Given the description of an element on the screen output the (x, y) to click on. 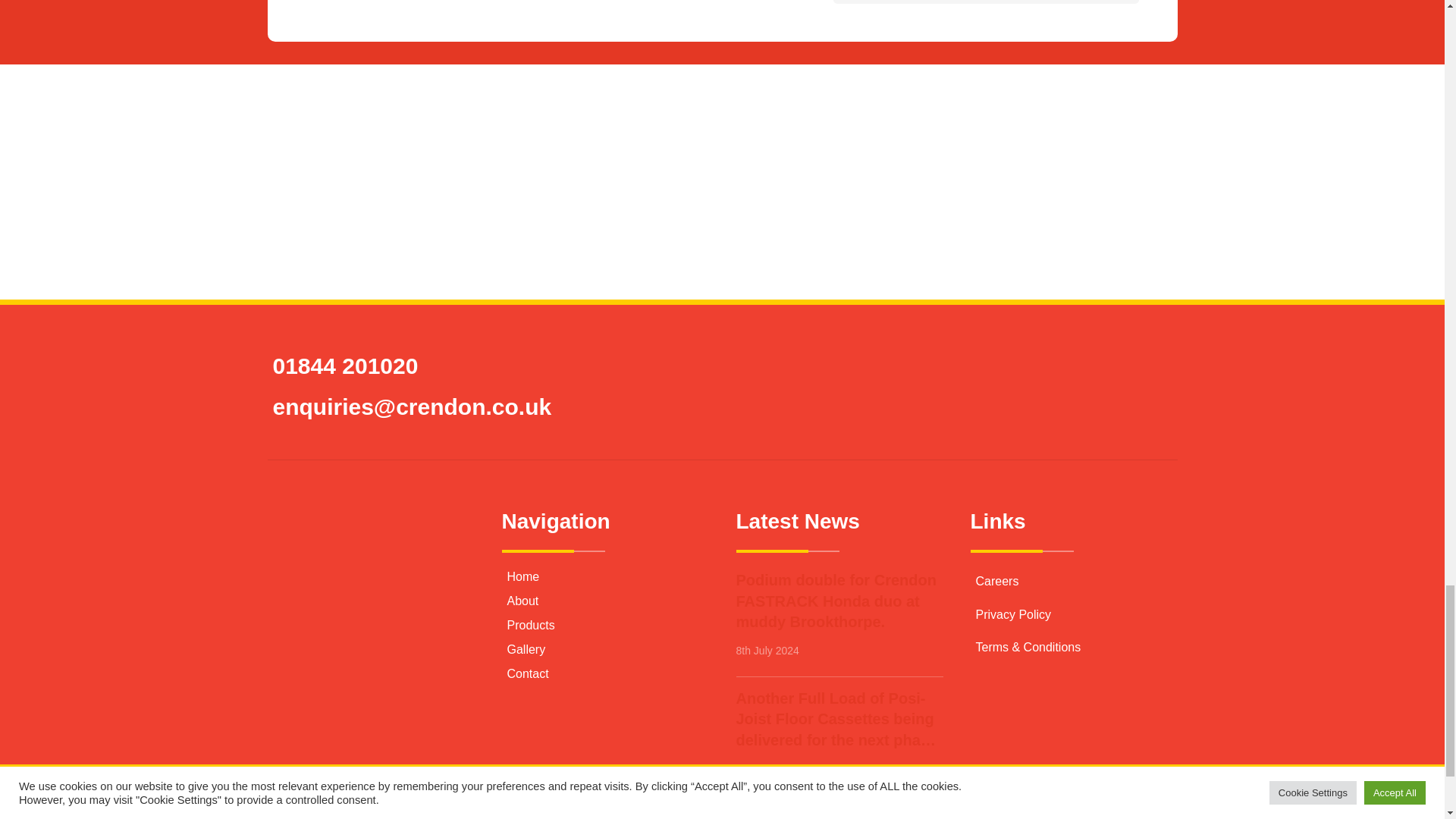
Crendon-Logo-White (349, 552)
Logo-TRA (1001, 115)
Logo-Constructionline (722, 233)
ISO9001BLUE2022 (628, 115)
